Given the description of an element on the screen output the (x, y) to click on. 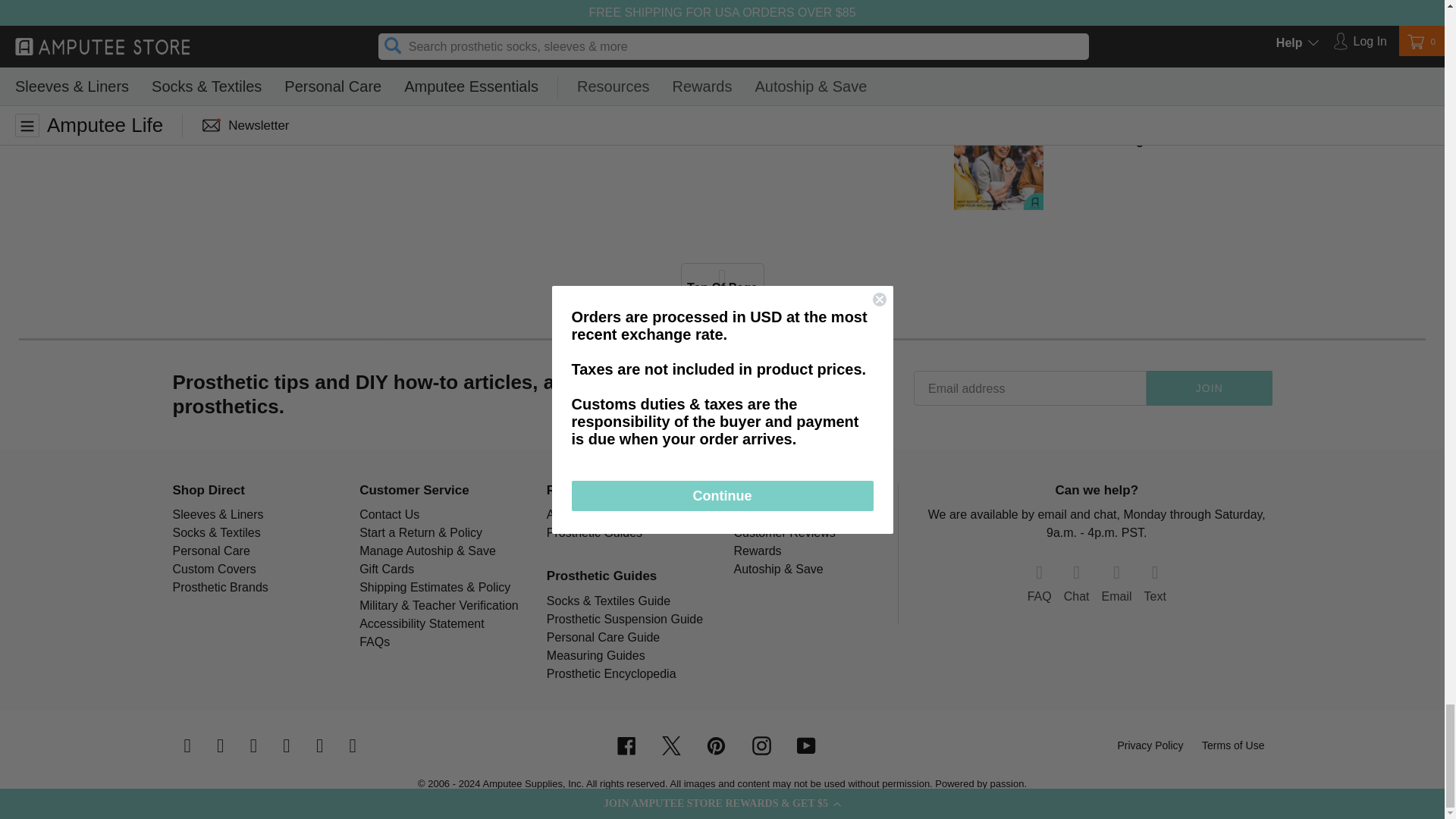
Amputee Store on Pinterest (715, 745)
Amputee Store on YouTube (805, 745)
Top Of Page (722, 281)
Amputee Store on Twitter (671, 745)
Amputee Store on Facebook (626, 745)
Amputee Store on Instagram (761, 745)
